Given the description of an element on the screen output the (x, y) to click on. 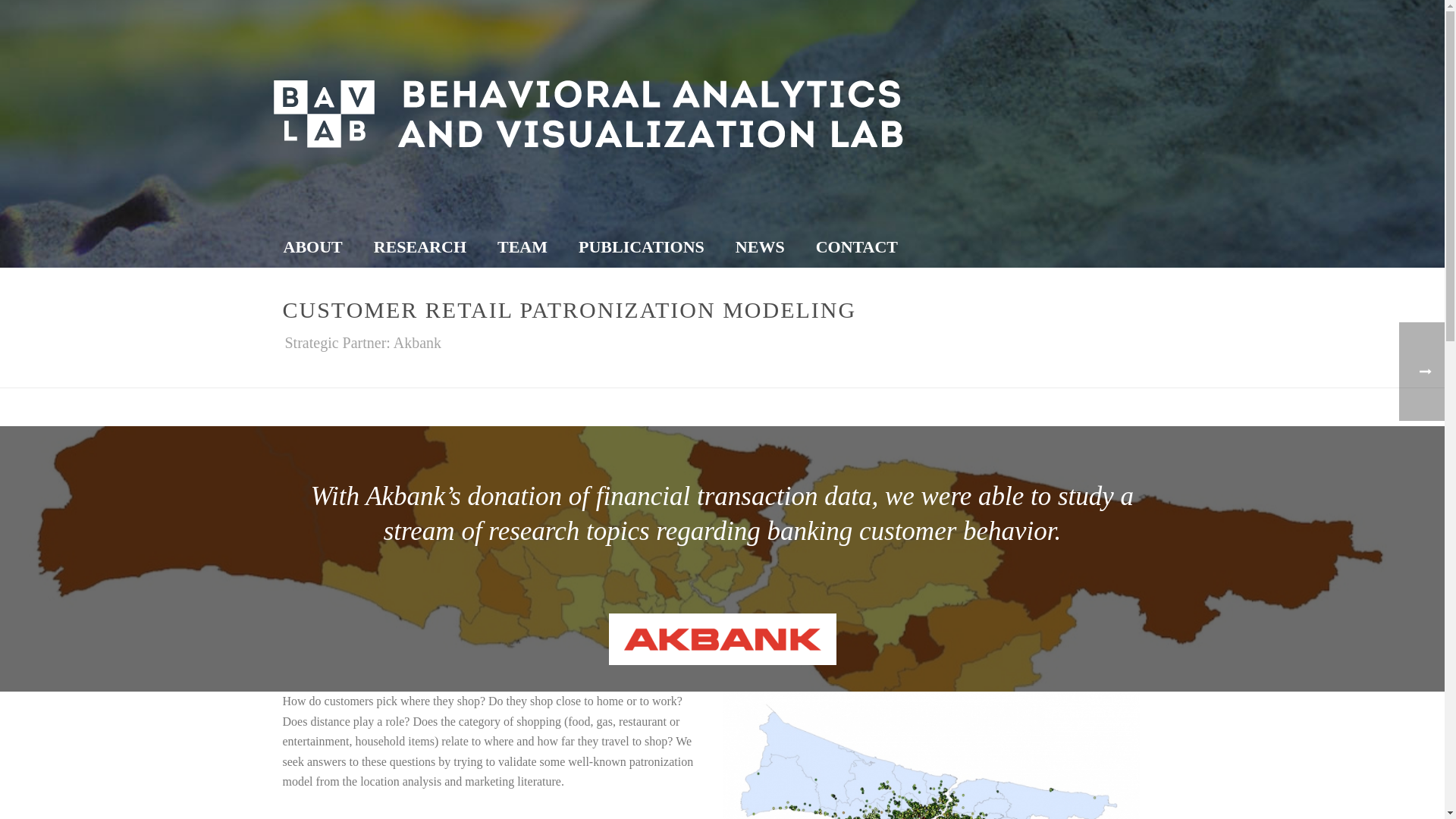
RESEARCH (419, 246)
ABOUT (312, 246)
NEWS (759, 246)
CONTACT (856, 246)
RESEARCH (419, 246)
TEAM (521, 246)
CONTACT (856, 246)
TEAM (521, 246)
ABOUT (312, 246)
NEWS (759, 246)
PUBLICATIONS (641, 246)
PUBLICATIONS (641, 246)
HOME (799, 373)
BEHAVIORAL ANALYTICS (876, 373)
